Given the description of an element on the screen output the (x, y) to click on. 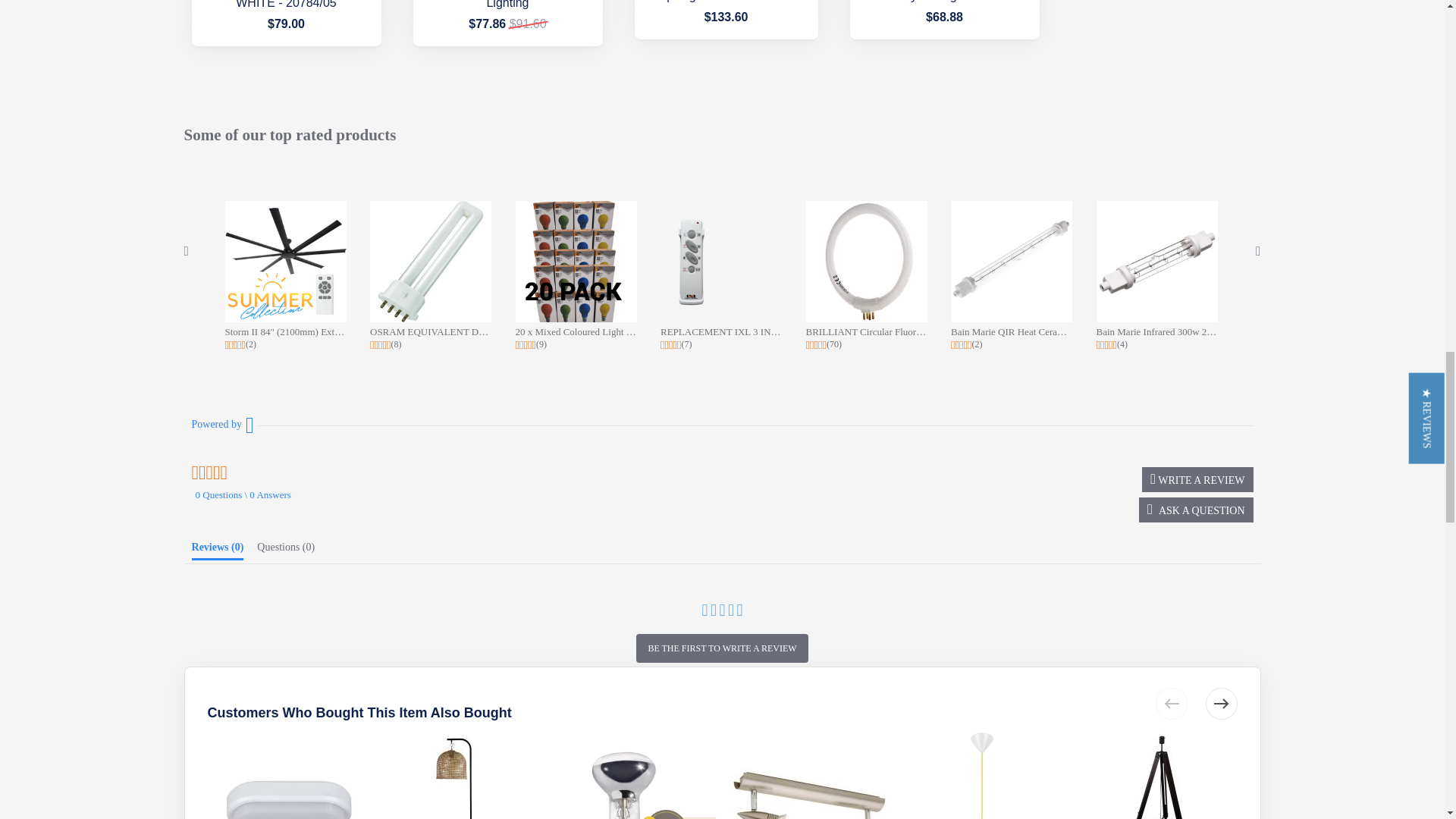
Eco Spot Select PIR Security Spotlight White LHT1055 (726, 1)
